Given the description of an element on the screen output the (x, y) to click on. 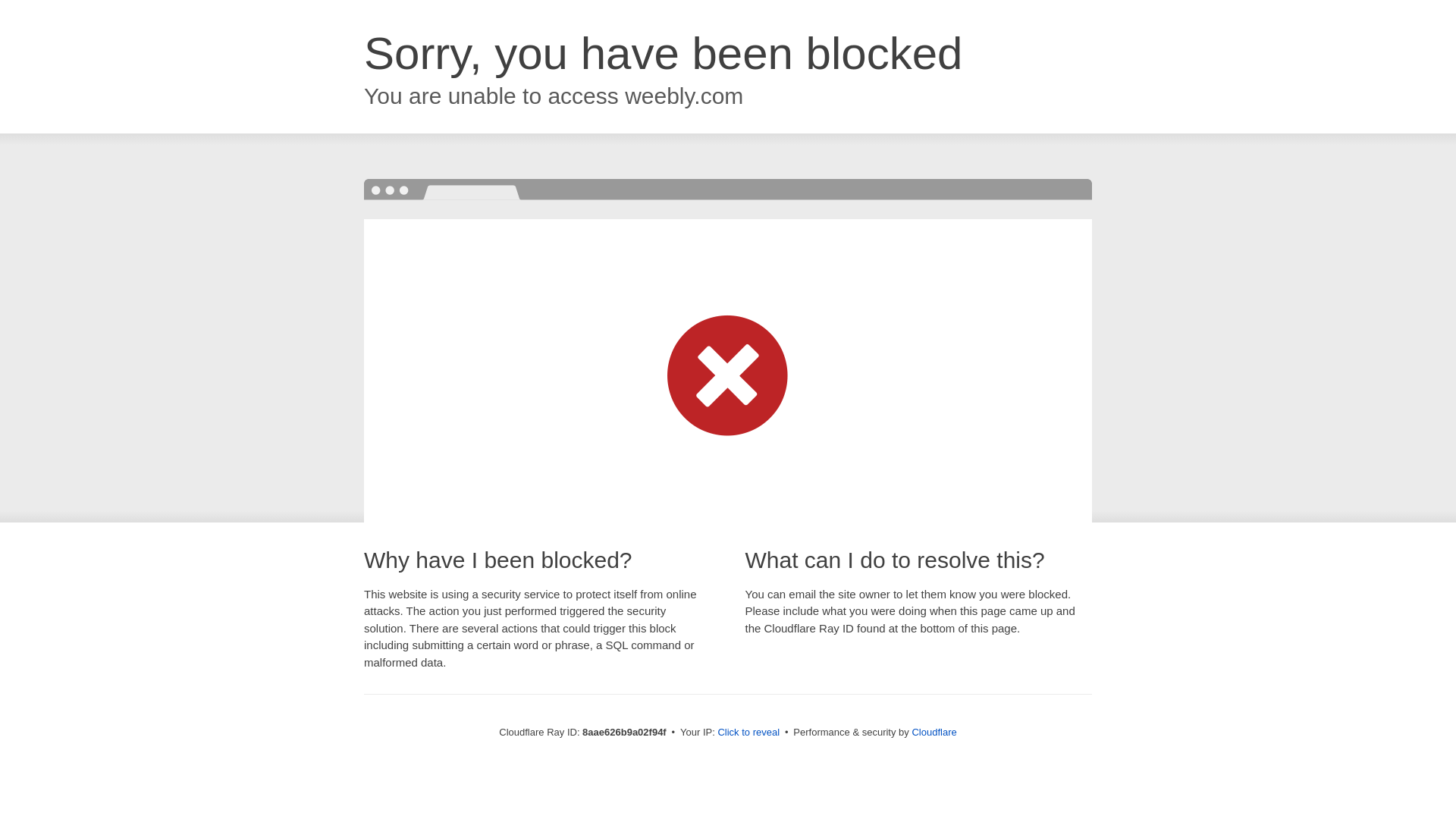
Cloudflare (933, 731)
Click to reveal (747, 732)
